Given the description of an element on the screen output the (x, y) to click on. 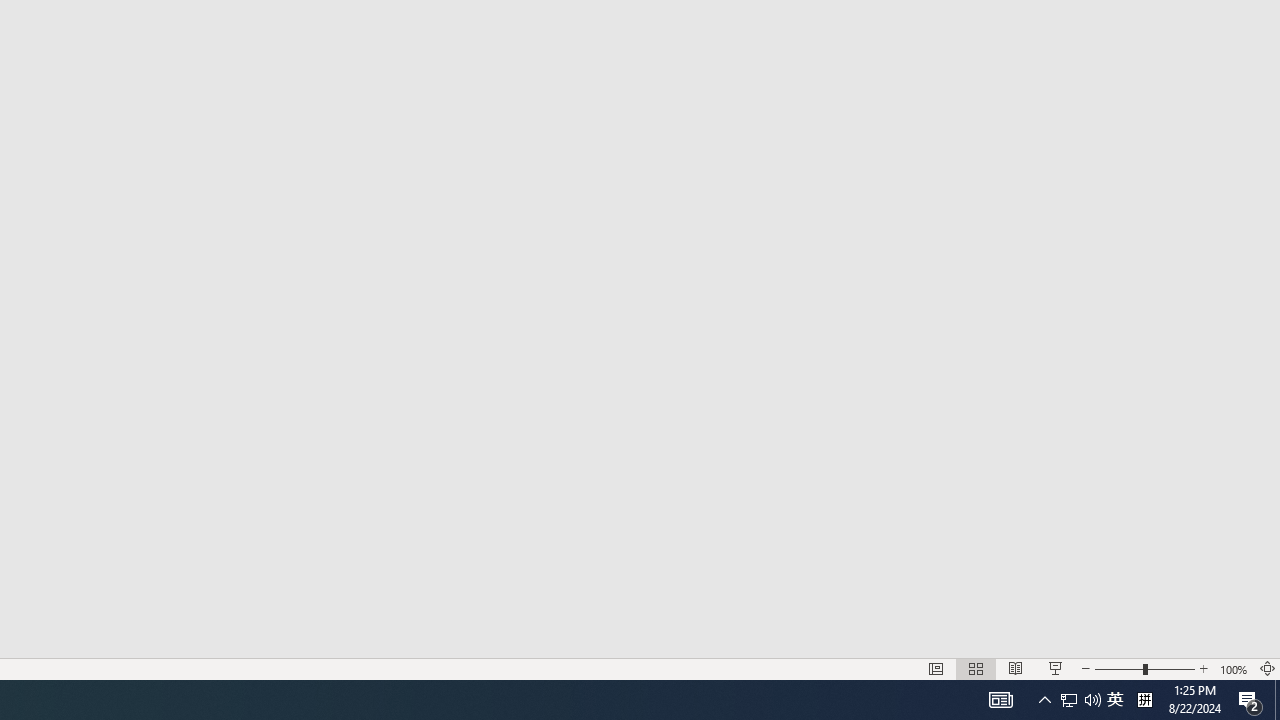
Zoom 100% (1234, 668)
